Given the description of an element on the screen output the (x, y) to click on. 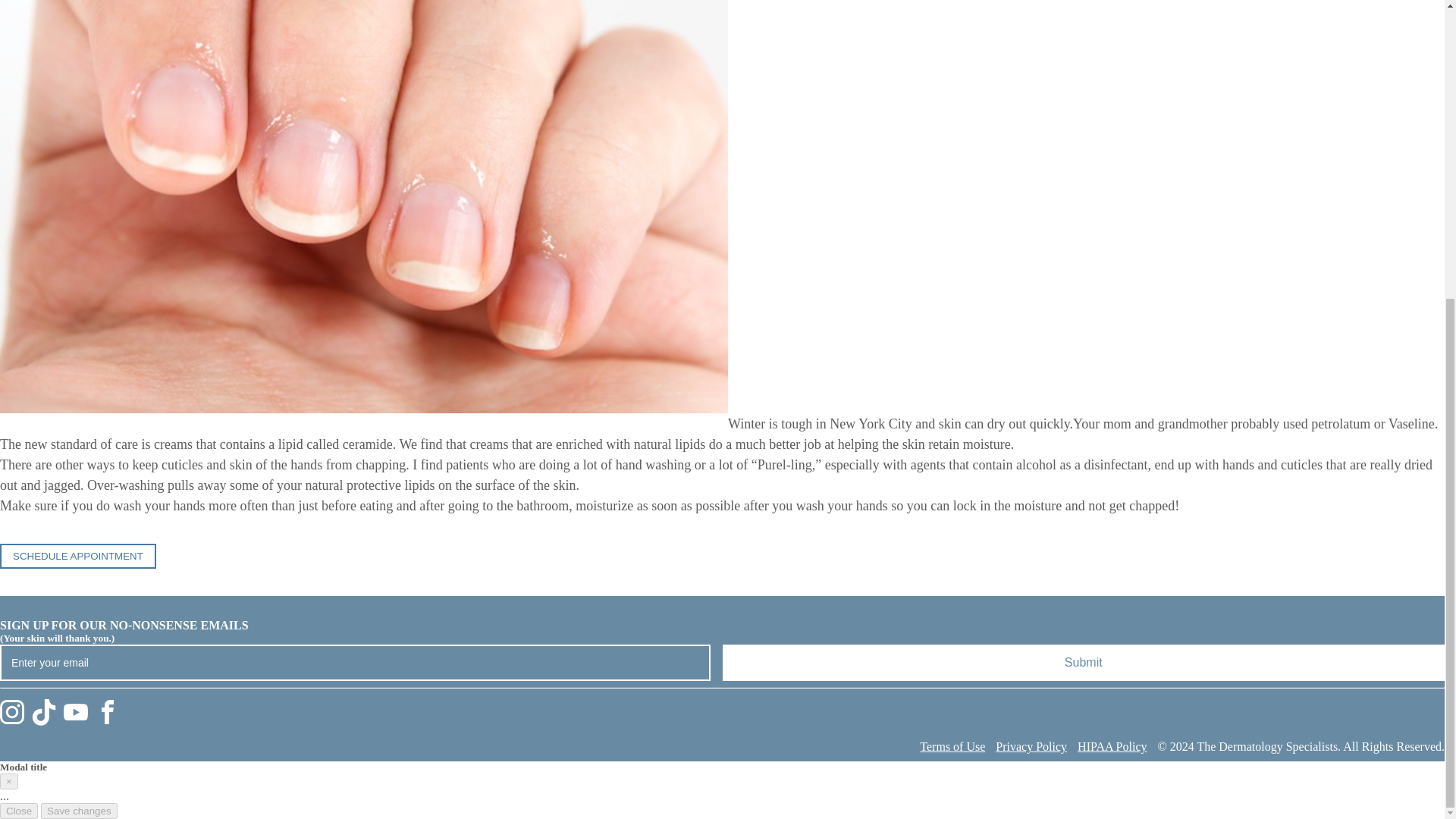
Submit (1083, 662)
